Given the description of an element on the screen output the (x, y) to click on. 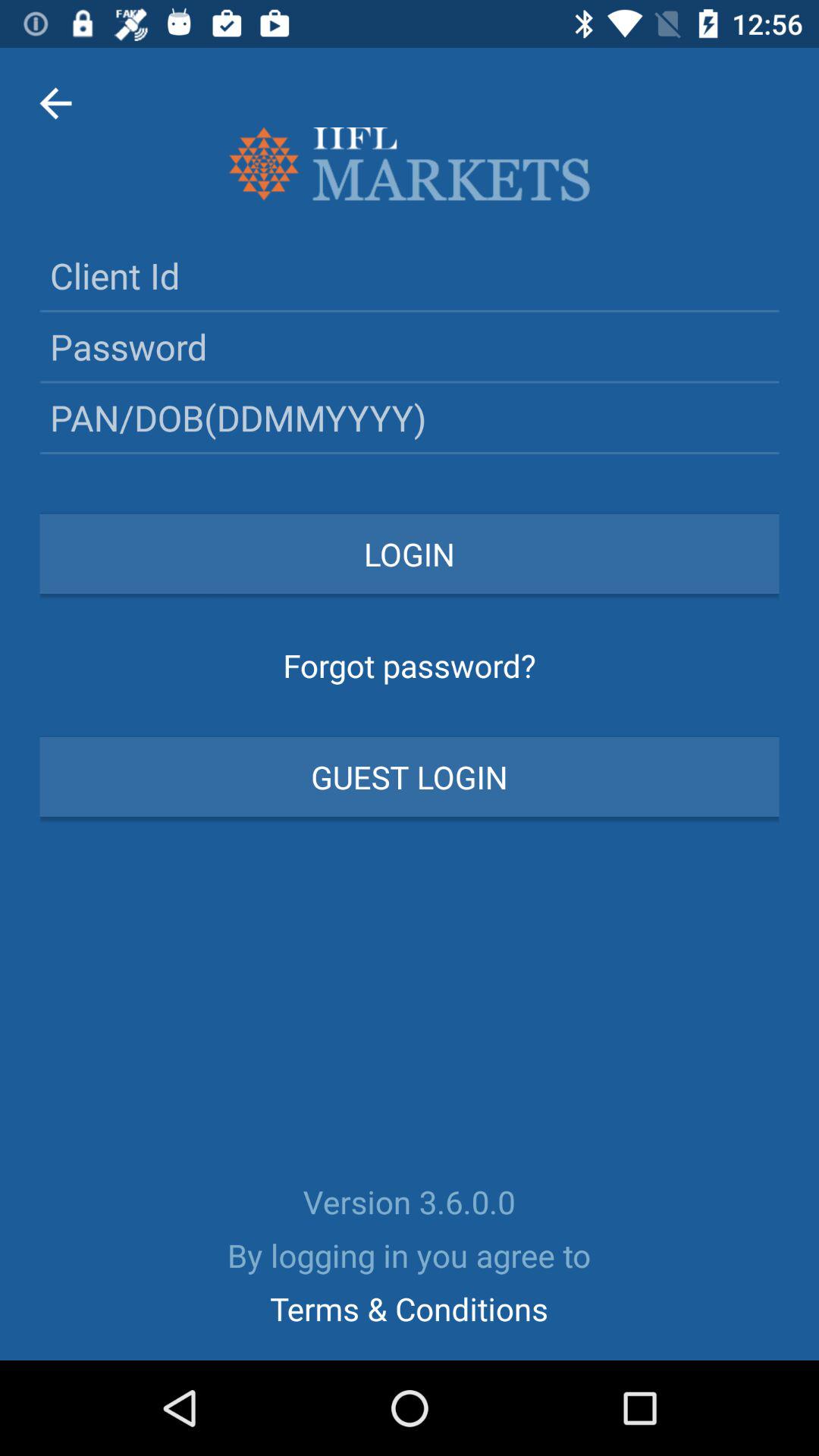
enter your client id (409, 275)
